Given the description of an element on the screen output the (x, y) to click on. 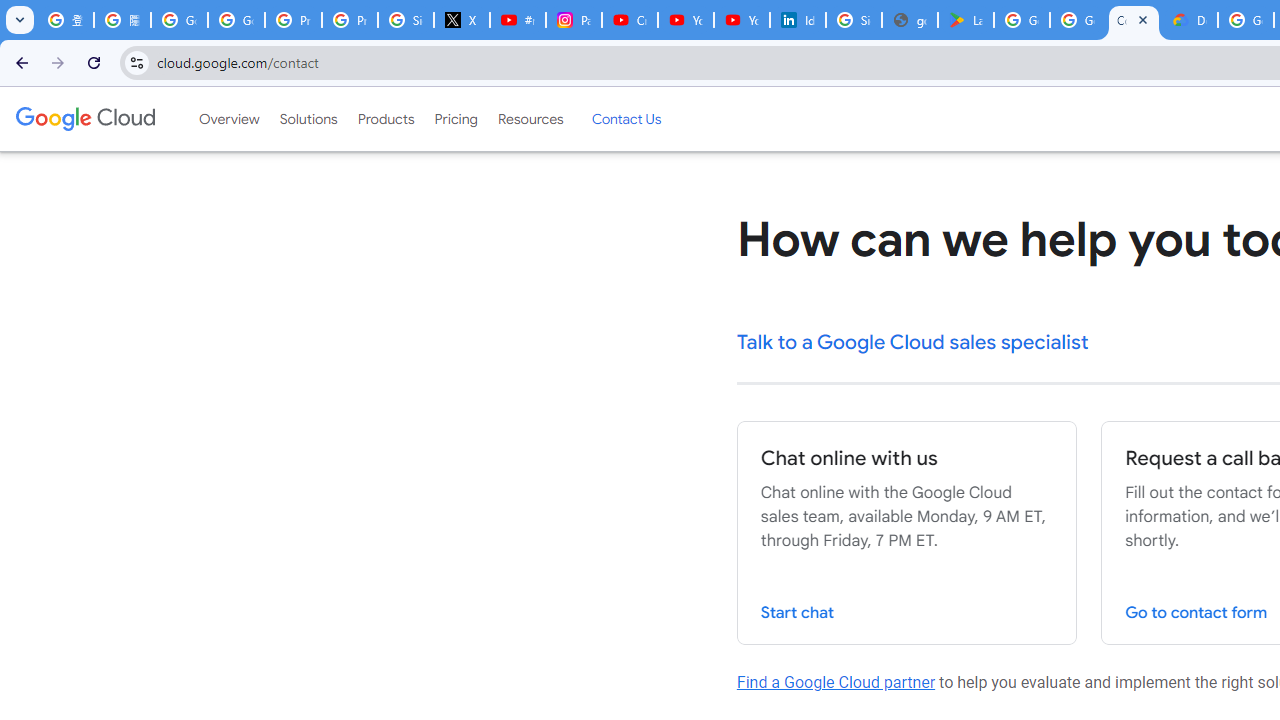
Solutions (308, 119)
Contact Us (626, 119)
Last Shelter: Survival - Apps on Google Play (966, 20)
